Given the description of an element on the screen output the (x, y) to click on. 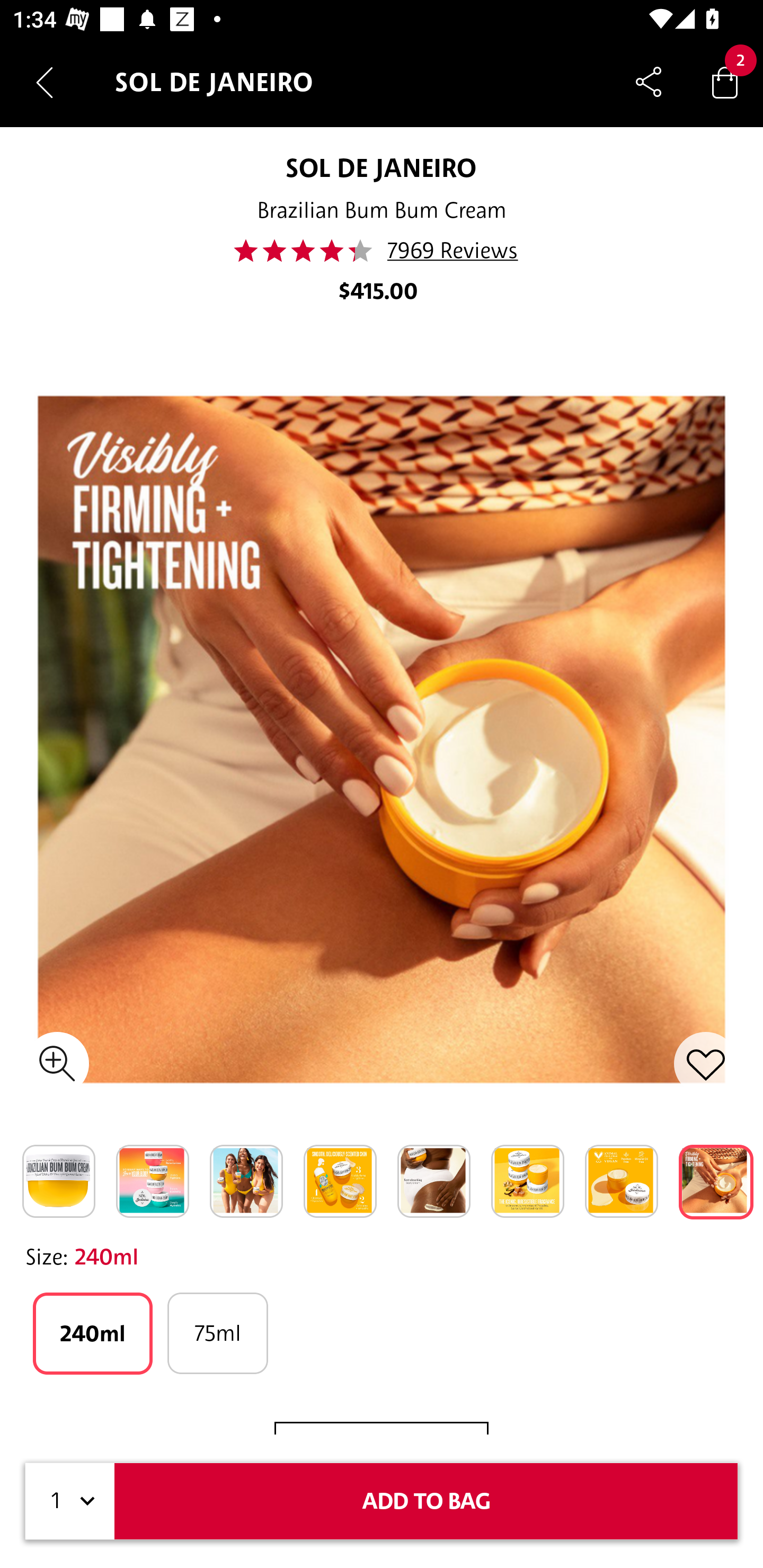
Navigate up (44, 82)
Share (648, 81)
Bag (724, 81)
SOL DE JANEIRO (380, 167)
43.0 7969 Reviews (381, 250)
240ml (92, 1333)
75ml (217, 1332)
1 (69, 1500)
ADD TO BAG (425, 1500)
